Given the description of an element on the screen output the (x, y) to click on. 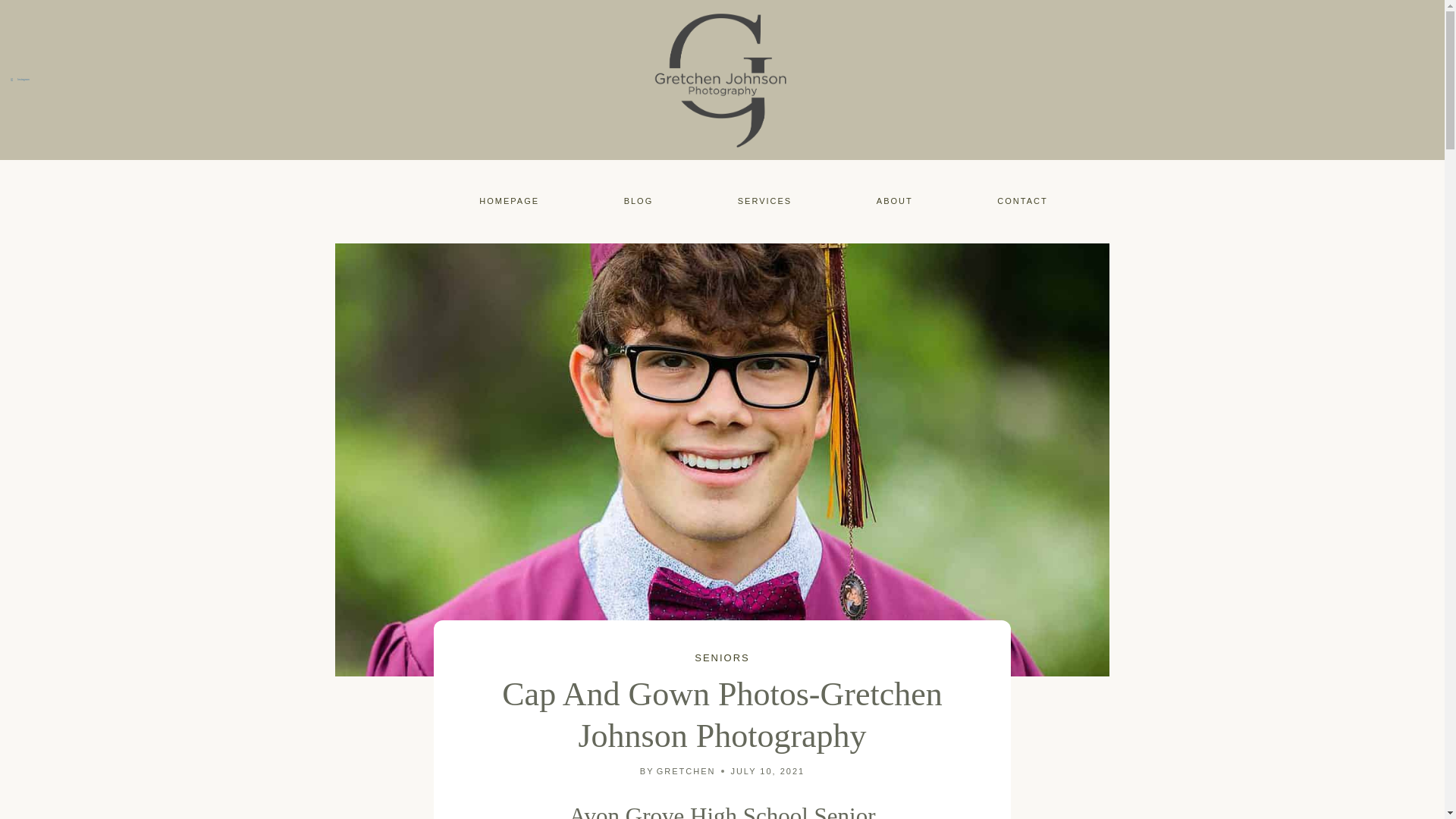
Instagram (19, 79)
GRETCHEN (686, 770)
SENIORS (721, 657)
CONTACT (1022, 201)
ABOUT (894, 201)
HOMEPAGE (508, 201)
SERVICES (765, 201)
BLOG (637, 201)
